Given the description of an element on the screen output the (x, y) to click on. 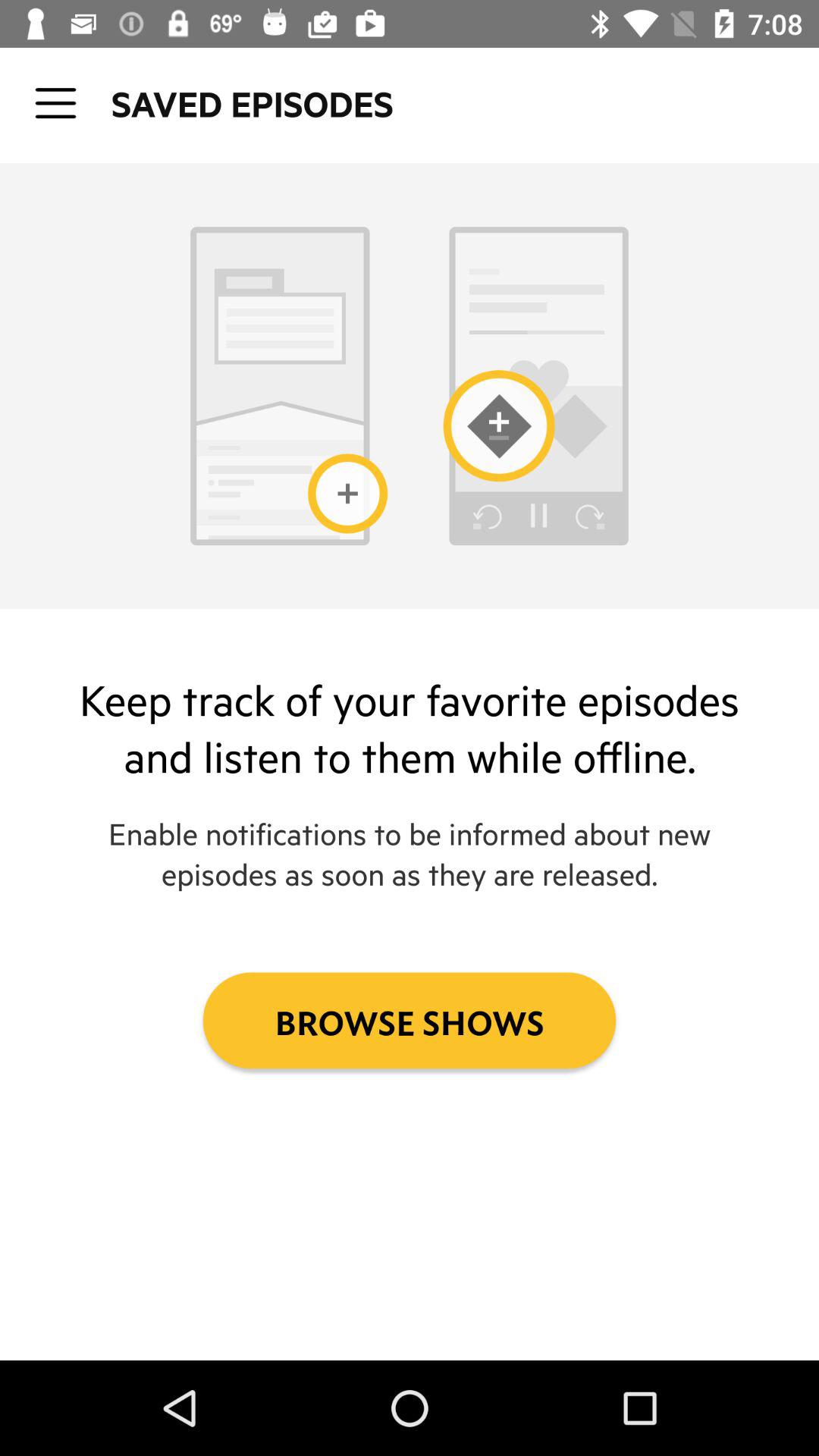
menu items (55, 103)
